Given the description of an element on the screen output the (x, y) to click on. 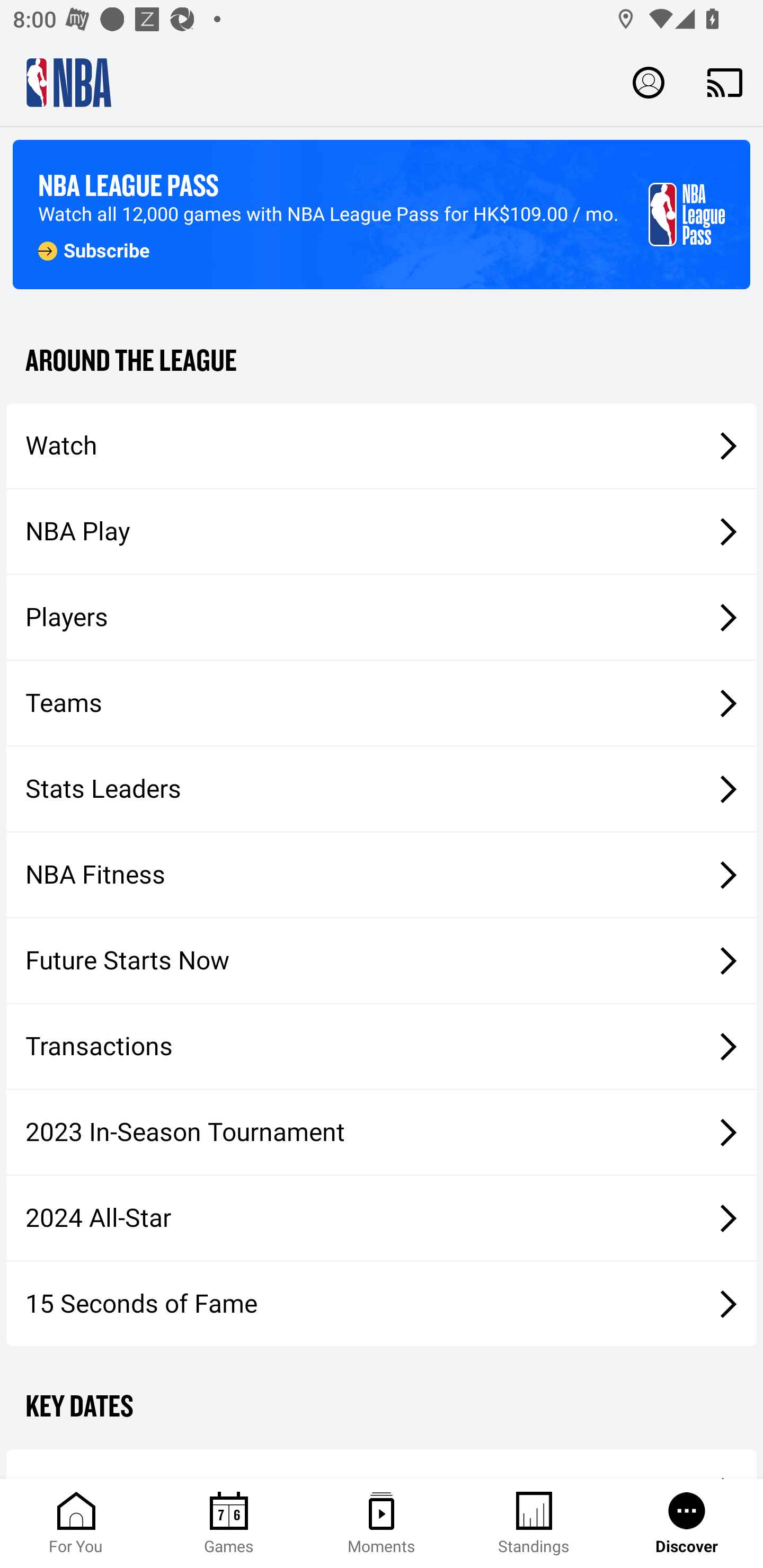
Cast. Disconnected (724, 82)
Profile (648, 81)
Watch (381, 444)
NBA Play (381, 531)
Players (381, 617)
Teams (381, 702)
Stats Leaders (381, 788)
NBA Fitness (381, 874)
Future Starts Now (381, 960)
Transactions (381, 1046)
2023 In-Season Tournament (381, 1131)
2024 All-Star (381, 1218)
15 Seconds of Fame (381, 1303)
For You (76, 1523)
Games (228, 1523)
Moments (381, 1523)
Standings (533, 1523)
